Given the description of an element on the screen output the (x, y) to click on. 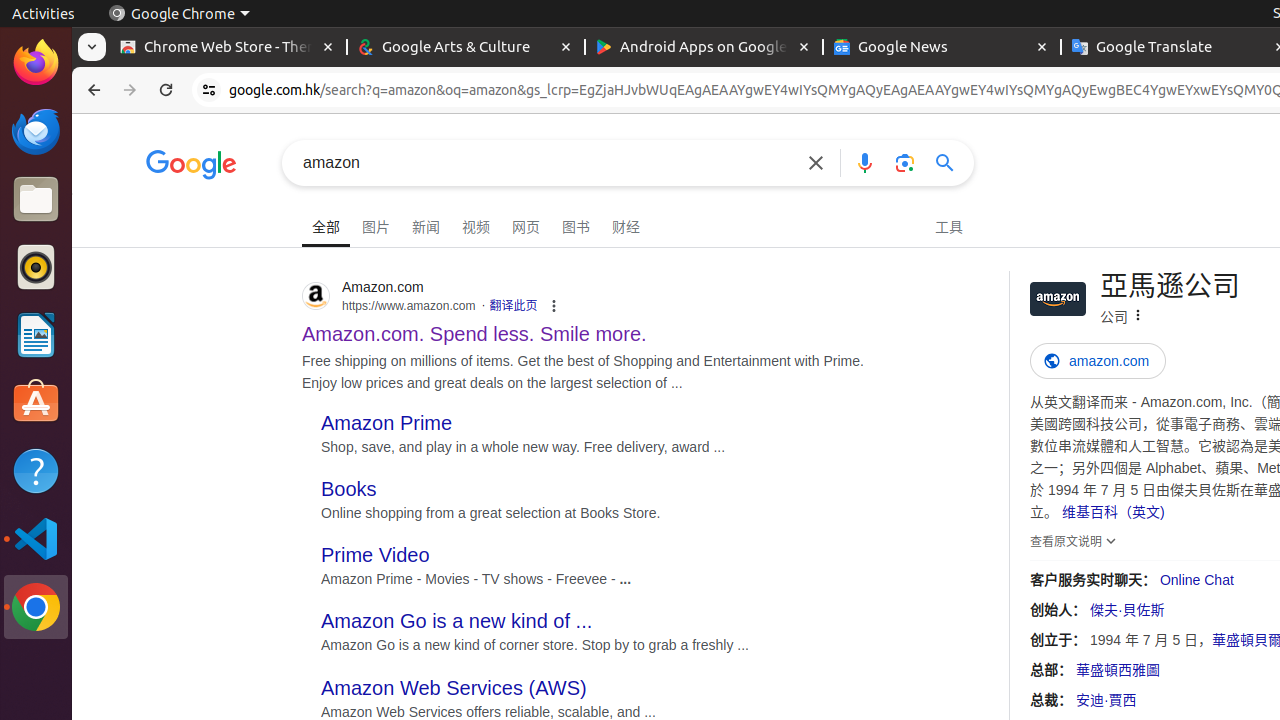
 Amazon.com. Spend less. Smile more. Amazon.com https://www.amazon.com Element type: link (474, 328)
“亞馬遜公司”的缩略图图片 Element type: push-button (1058, 299)
工具 Element type: push-button (949, 225)
